Given the description of an element on the screen output the (x, y) to click on. 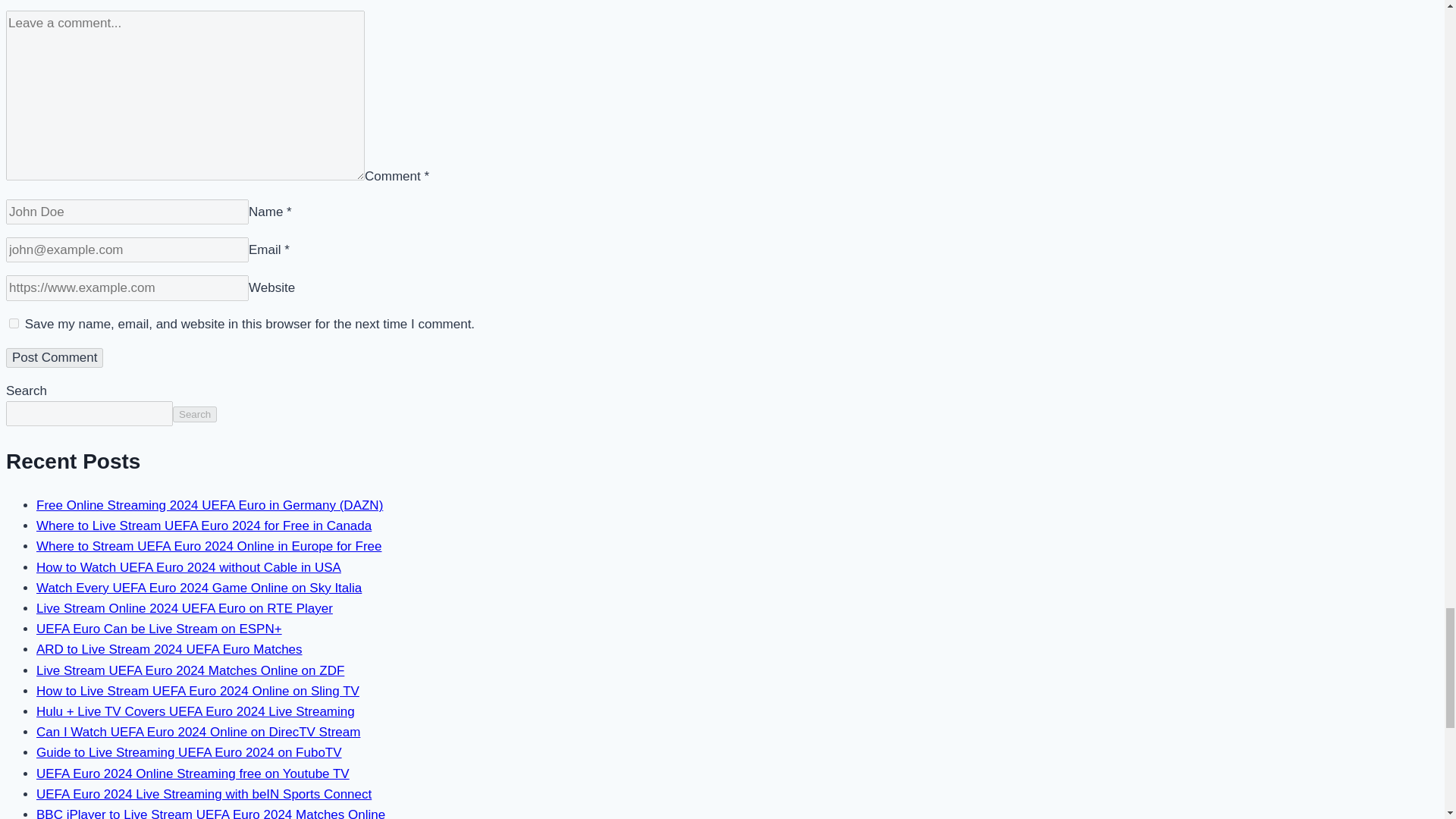
Post Comment (54, 357)
yes (13, 323)
